Given the description of an element on the screen output the (x, y) to click on. 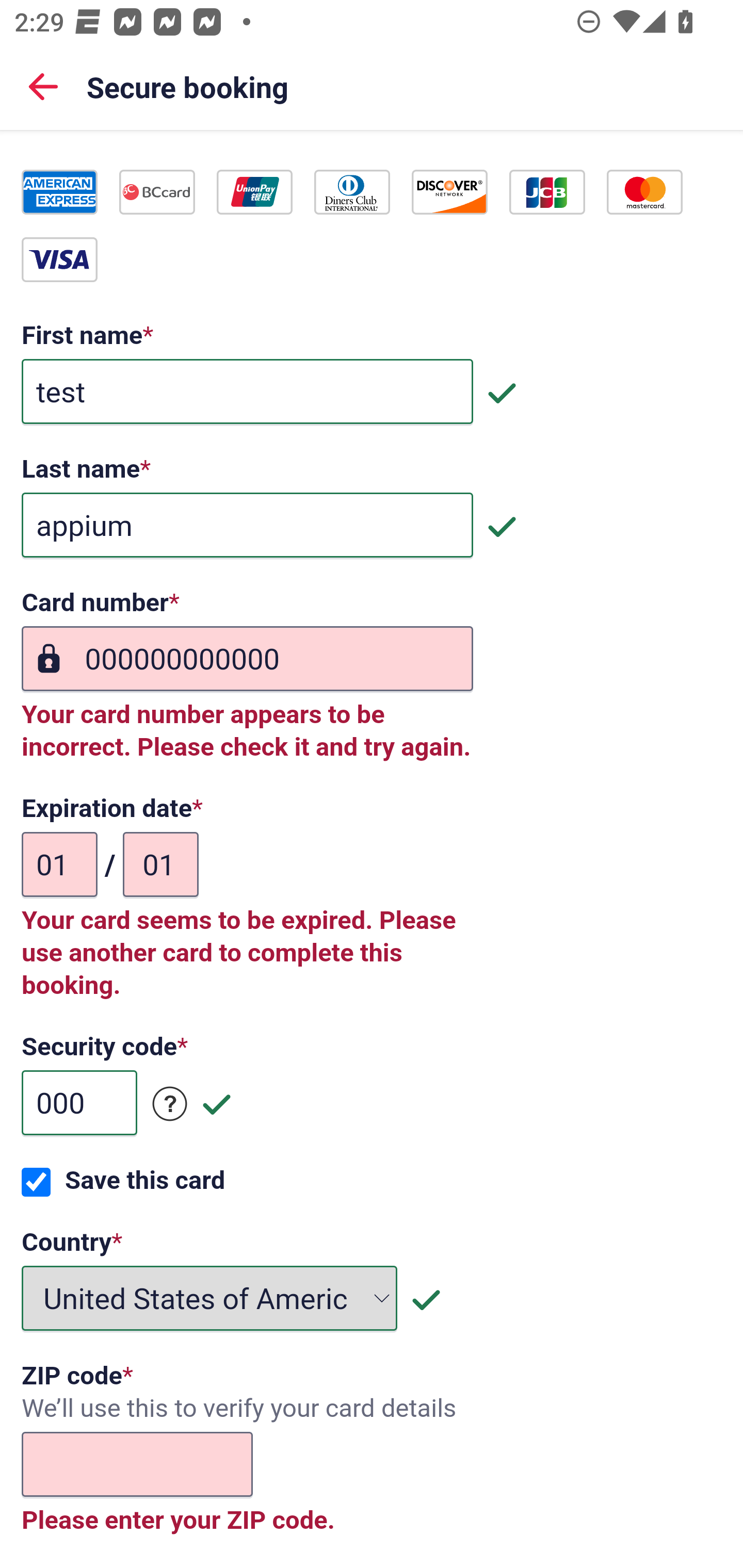
Back (43, 86)
test (247, 393)
appium (247, 526)
000000000000 (247, 659)
01 (59, 866)
01 (159, 866)
000 (79, 1104)
Security code (170, 1105)
Save this card (36, 1183)
United States of America (209, 1299)
